Given the description of an element on the screen output the (x, y) to click on. 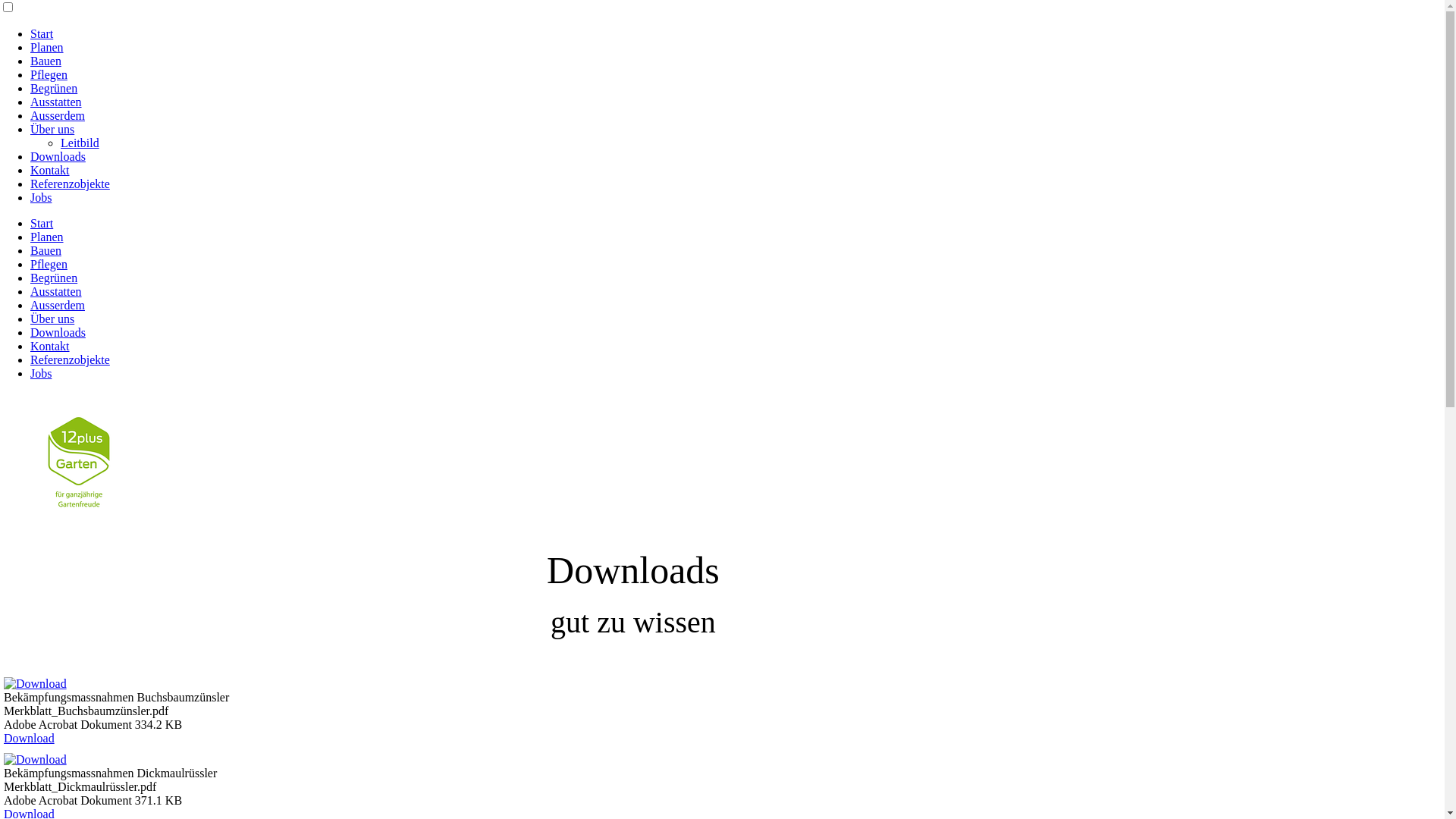
Planen Element type: text (46, 236)
Ausstatten Element type: text (55, 101)
Referenzobjekte Element type: text (69, 359)
Downloads Element type: text (57, 156)
Leitbild Element type: text (79, 142)
Start Element type: text (41, 222)
Ausserdem Element type: text (57, 115)
Start Element type: text (41, 33)
Kontakt Element type: text (49, 169)
Ausstatten Element type: text (55, 291)
Jobs Element type: text (40, 373)
Jobs Element type: text (40, 197)
Ausserdem Element type: text (57, 304)
Pflegen Element type: text (48, 74)
Pflegen Element type: text (48, 263)
Download Element type: text (28, 737)
Bauen Element type: text (45, 60)
Kontakt Element type: text (49, 345)
Downloads Element type: text (57, 332)
Bauen Element type: text (45, 250)
Planen Element type: text (46, 46)
Referenzobjekte Element type: text (69, 183)
